Given the description of an element on the screen output the (x, y) to click on. 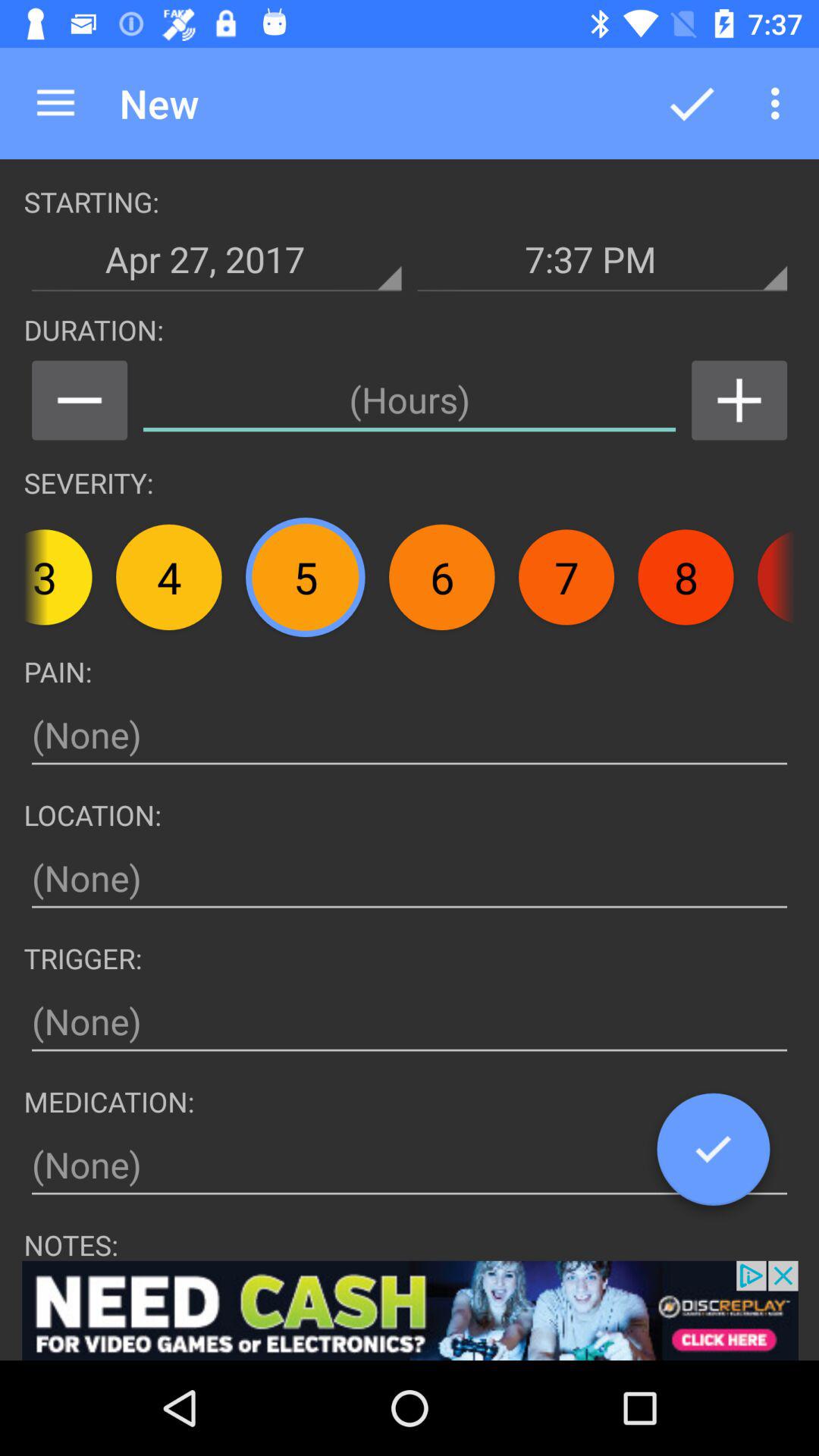
toggle advertisement (409, 1310)
